Given the description of an element on the screen output the (x, y) to click on. 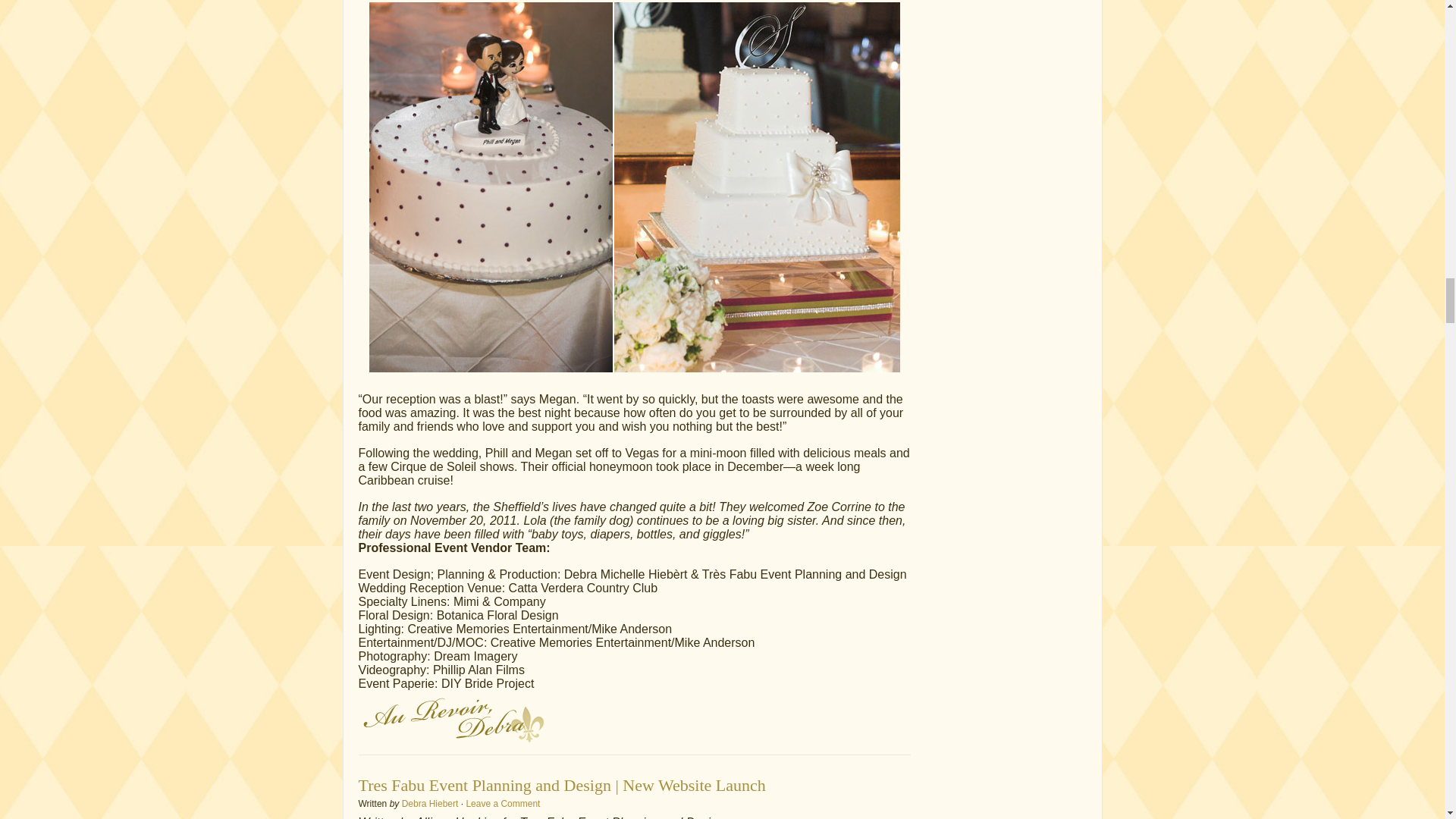
Debra (451, 716)
Debra Hiebert (429, 803)
Leave a Comment (502, 803)
